Given the description of an element on the screen output the (x, y) to click on. 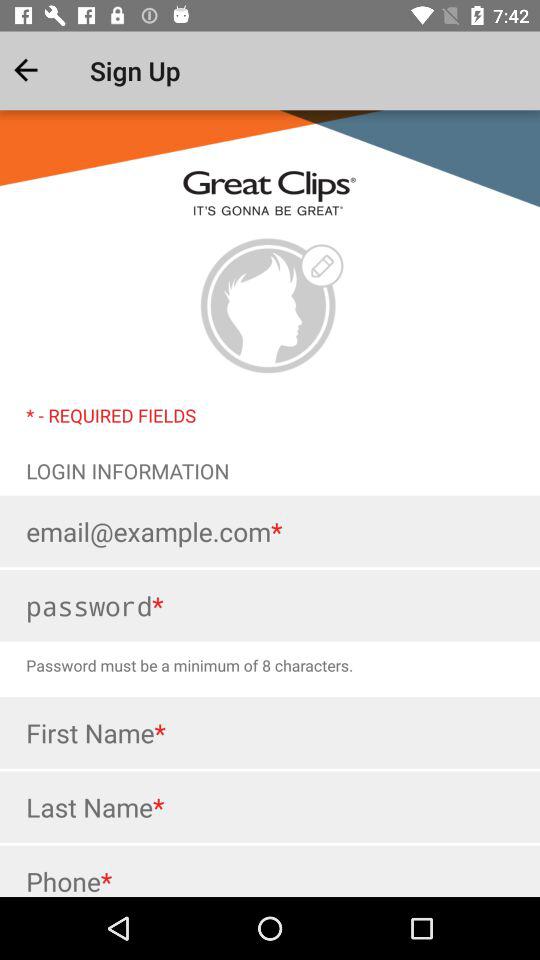
surname (269, 807)
